Given the description of an element on the screen output the (x, y) to click on. 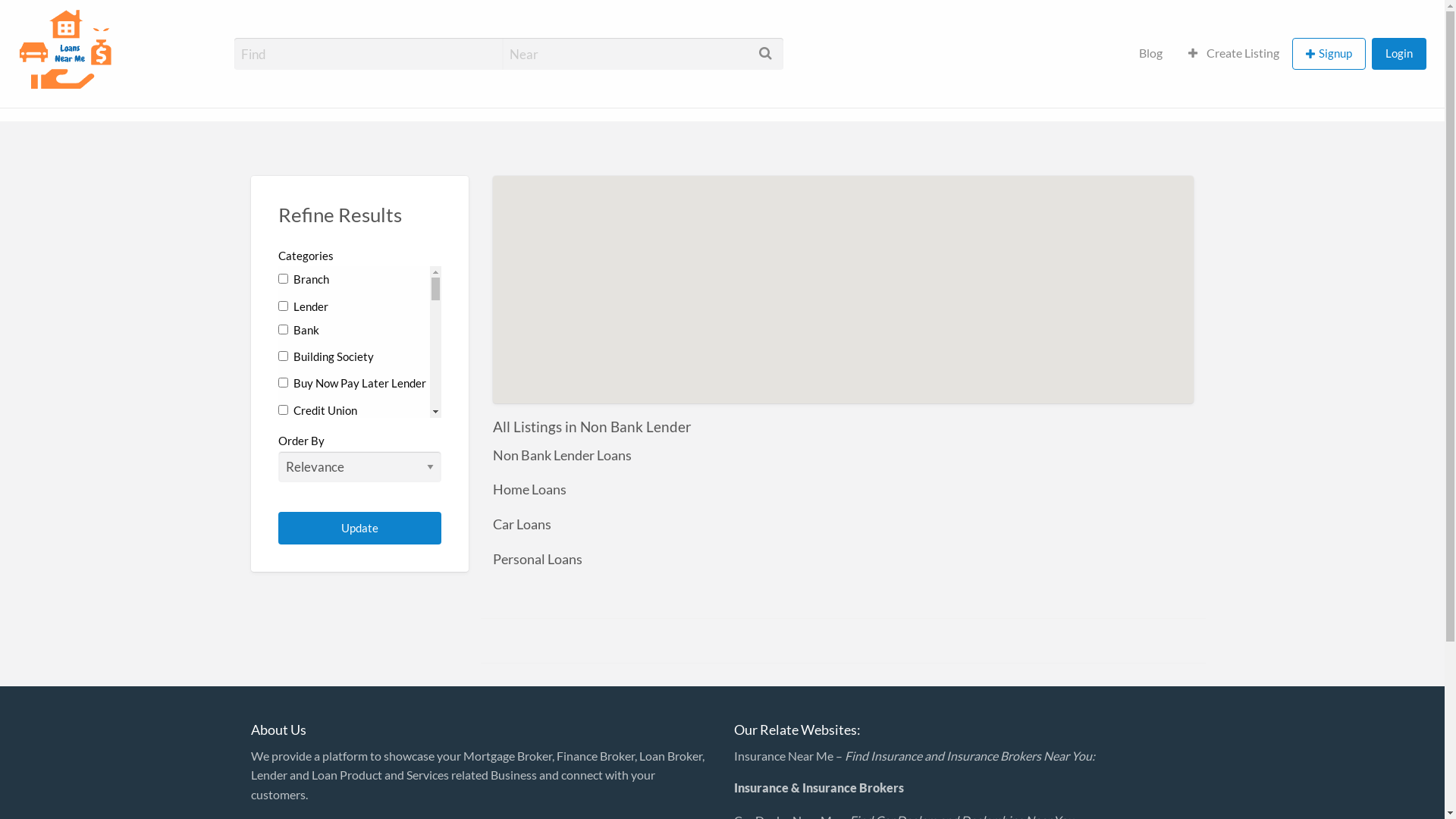
Signup Element type: text (1328, 53)
Blog Element type: text (1150, 53)
Insurance & Insurance Brokers Element type: text (818, 787)
Login Element type: text (1398, 53)
Update Element type: text (359, 527)
Search Element type: text (29, 16)
Create Listing Element type: text (1233, 53)
